Given the description of an element on the screen output the (x, y) to click on. 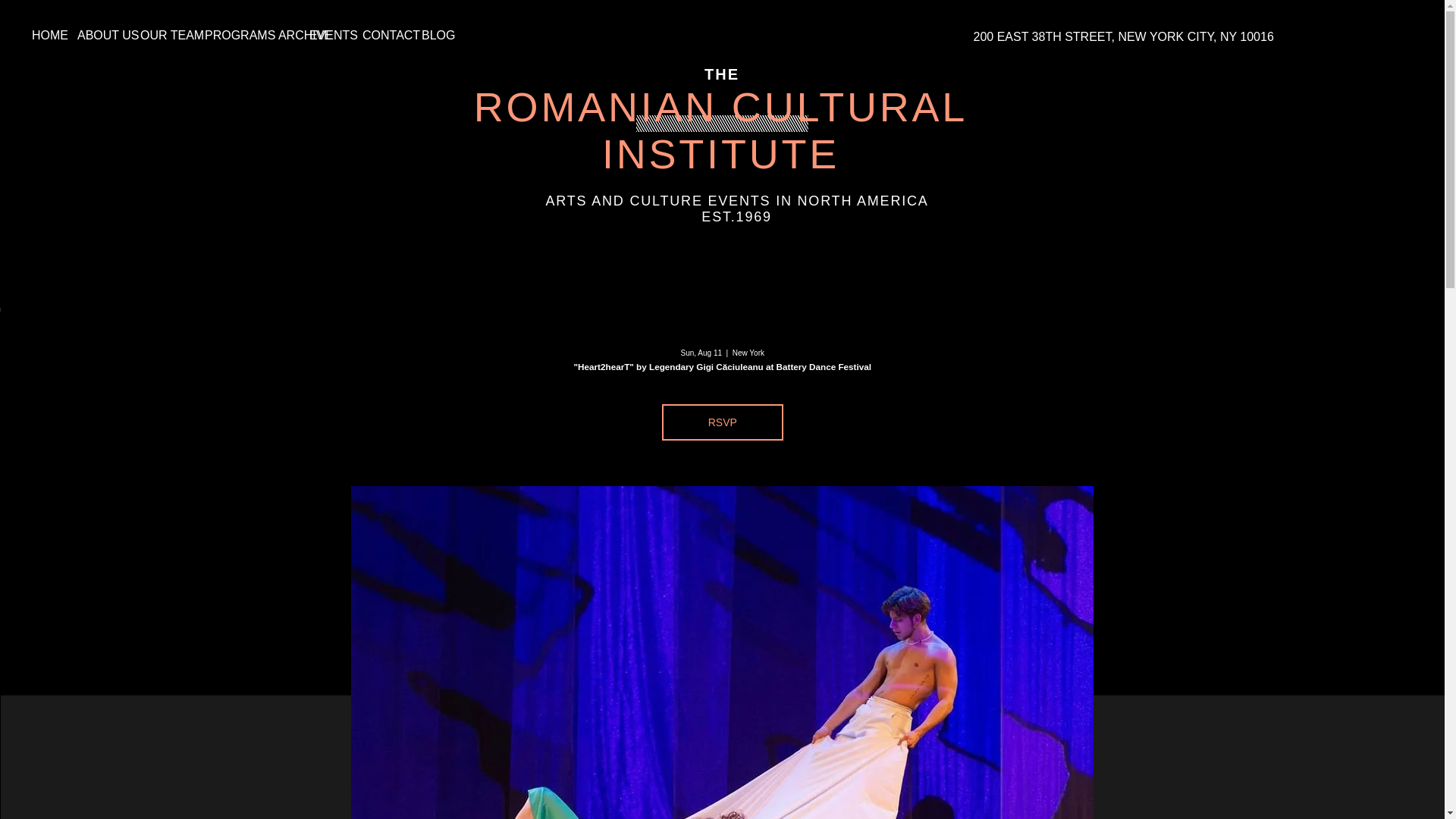
THE (721, 74)
ARTS AND CULTURE EVENTS IN NORTH AMERICA (737, 200)
CONTACT (380, 35)
ROMANIAN CULTURAL INSTITUTE (721, 130)
ABOUT US (97, 35)
OUR TEAM (161, 35)
HOME (42, 35)
RSVP (722, 422)
BLOG (431, 35)
EVENTS (324, 35)
PROGRAMS ARCHIVE (245, 35)
200 EAST 38TH STREET, NEW YORK CITY, NY 10016 (1123, 36)
